Given the description of an element on the screen output the (x, y) to click on. 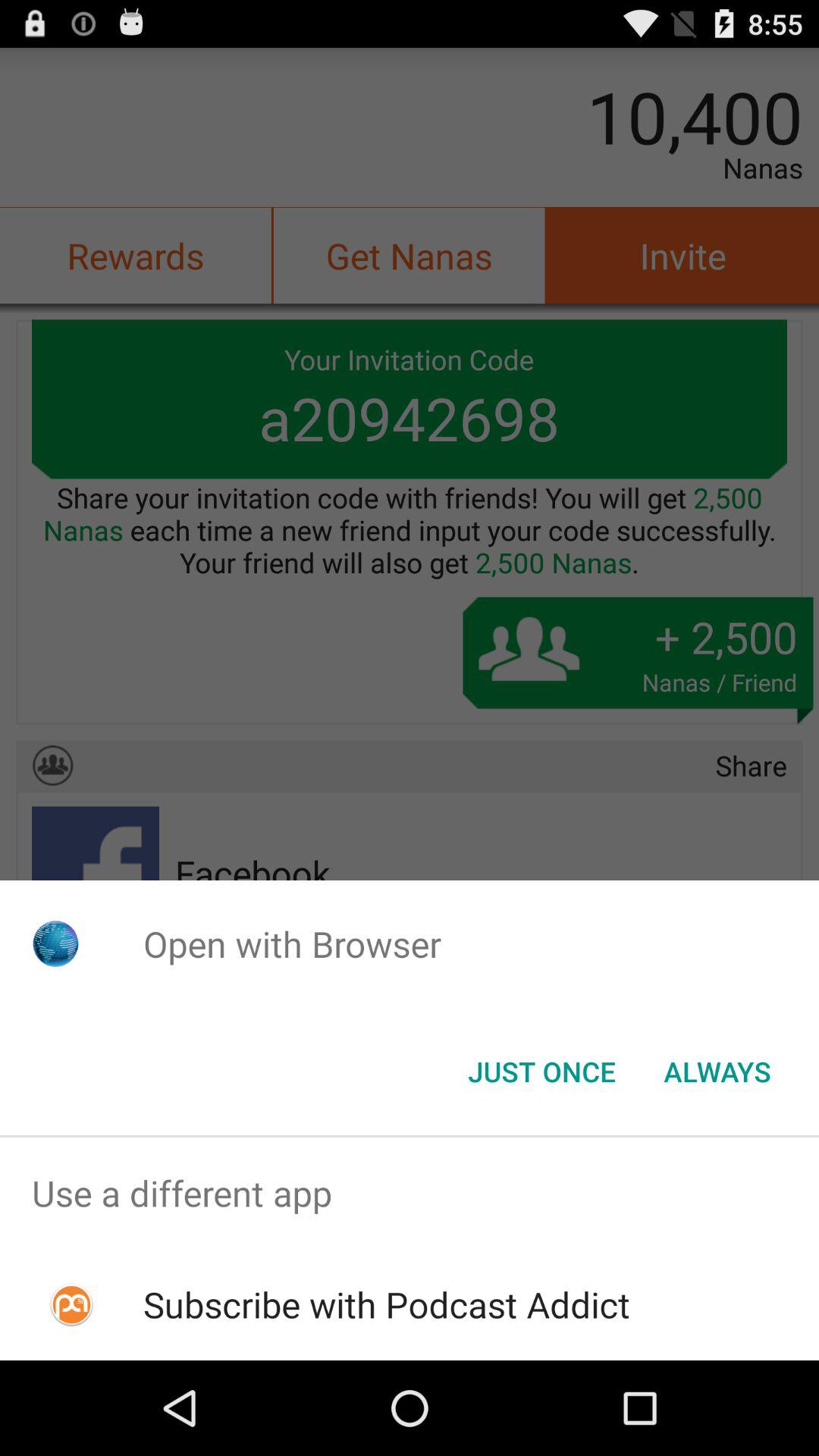
launch item at the bottom right corner (717, 1071)
